Given the description of an element on the screen output the (x, y) to click on. 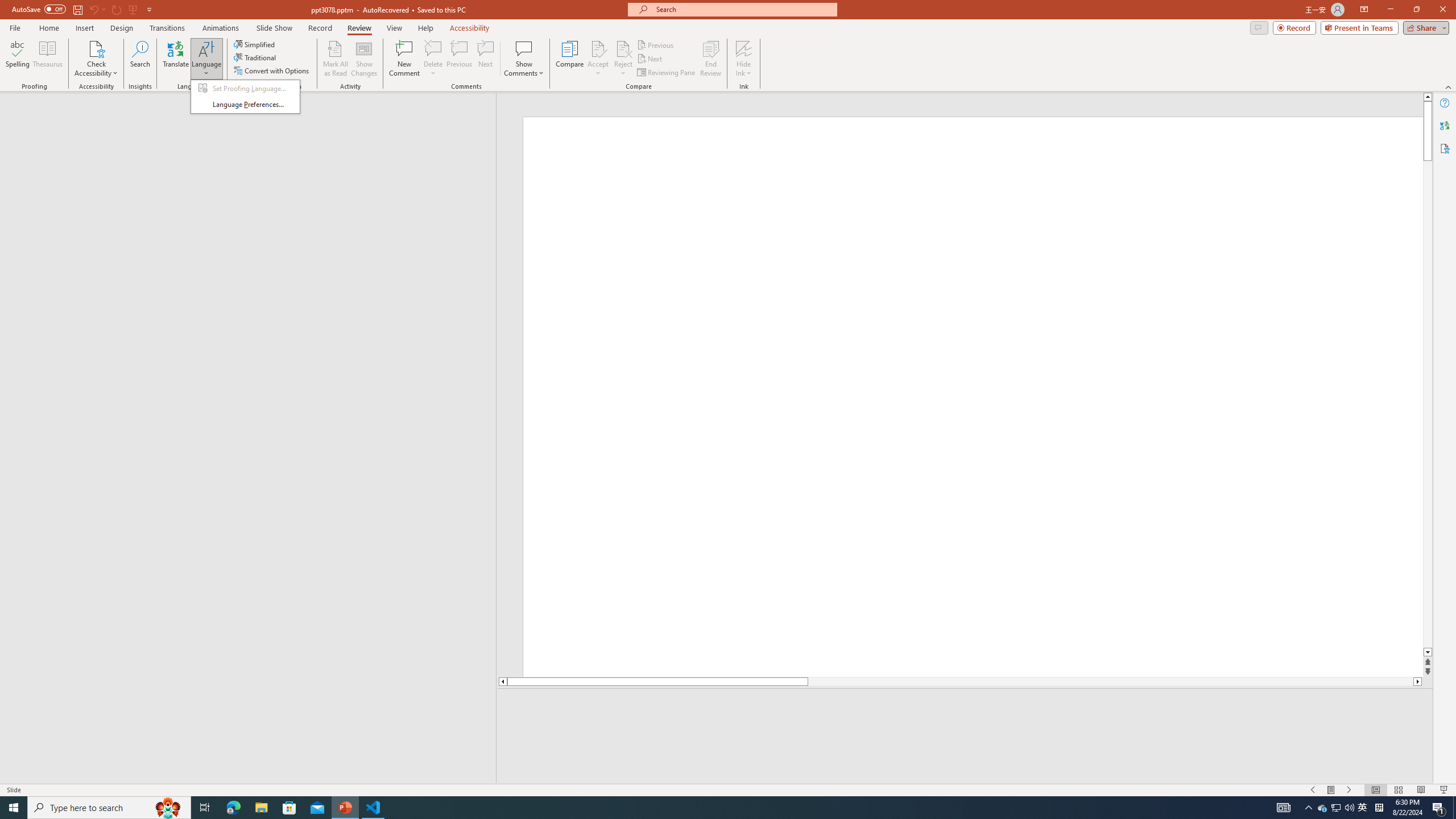
Reject (622, 58)
Compare (569, 58)
Menu On (1331, 790)
Reviewing Pane (666, 72)
